Given the description of an element on the screen output the (x, y) to click on. 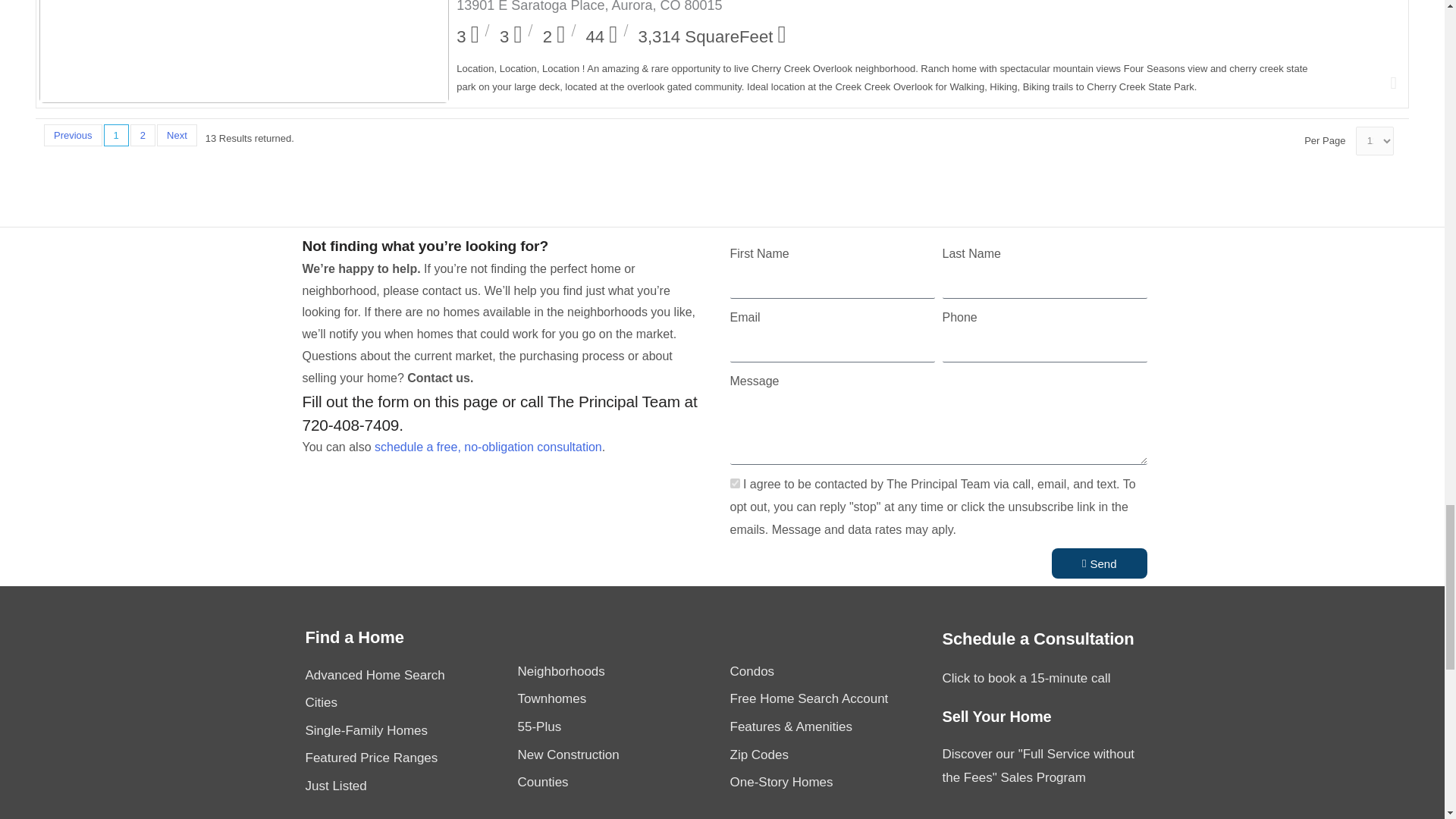
on (734, 483)
